Given the description of an element on the screen output the (x, y) to click on. 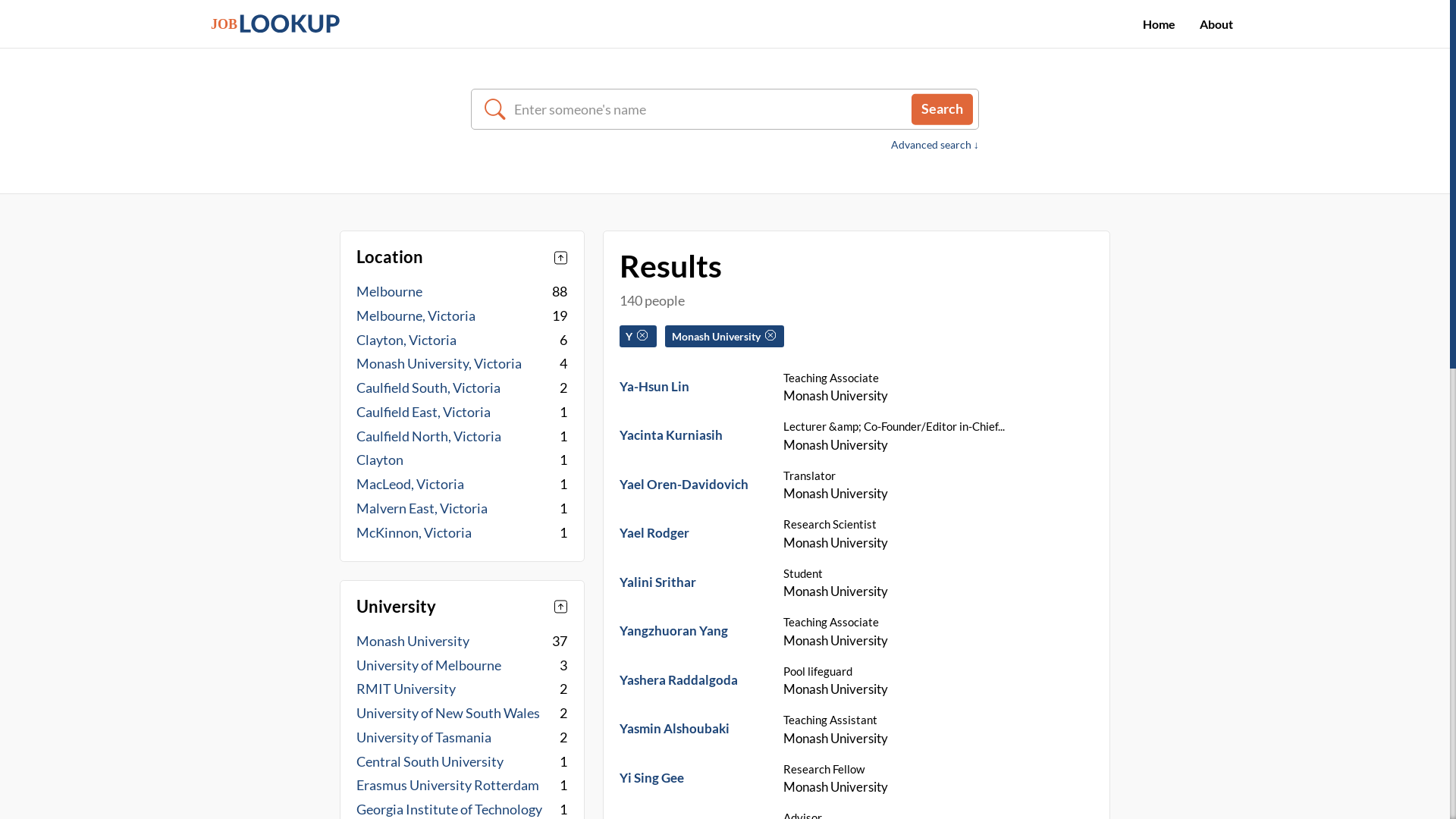
Monash University, Victoria Element type: text (438, 363)
University Element type: text (461, 606)
Caulfield East, Victoria Element type: text (423, 412)
University of New South Wales Element type: text (447, 713)
Melbourne, Victoria Element type: text (415, 315)
Yael Rodger Element type: text (654, 532)
Yi Sing Gee Element type: text (651, 777)
McKinnon, Victoria Element type: text (413, 532)
Home Element type: text (1158, 23)
Location Element type: text (461, 257)
Yangzhuoran Yang Element type: text (673, 630)
Yael Oren-Davidovich Element type: text (683, 484)
MacLeod, Victoria Element type: text (410, 484)
University of Tasmania Element type: text (423, 737)
Ya-Hsun Lin Element type: text (654, 386)
Georgia Institute of Technology Element type: text (449, 809)
Monash University Element type: text (412, 641)
Yalini Srithar Element type: text (657, 581)
Yashera Raddalgoda Element type: text (678, 679)
Yasmin Alshoubaki Element type: text (674, 728)
Clayton, Victoria Element type: text (406, 340)
Search Element type: text (941, 109)
Yacinta Kurniasih Element type: text (670, 434)
Erasmus University Rotterdam Element type: text (447, 785)
About Element type: text (1216, 23)
Clayton Element type: text (379, 459)
Central South University Element type: text (429, 761)
University of Melbourne Element type: text (428, 664)
Malvern East, Victoria Element type: text (421, 508)
RMIT University Element type: text (405, 688)
Monash University  Element type: text (723, 336)
Caulfield South, Victoria Element type: text (428, 387)
Melbourne Element type: text (389, 291)
Y  Element type: text (636, 336)
Caulfield North, Victoria Element type: text (428, 435)
